Given the description of an element on the screen output the (x, y) to click on. 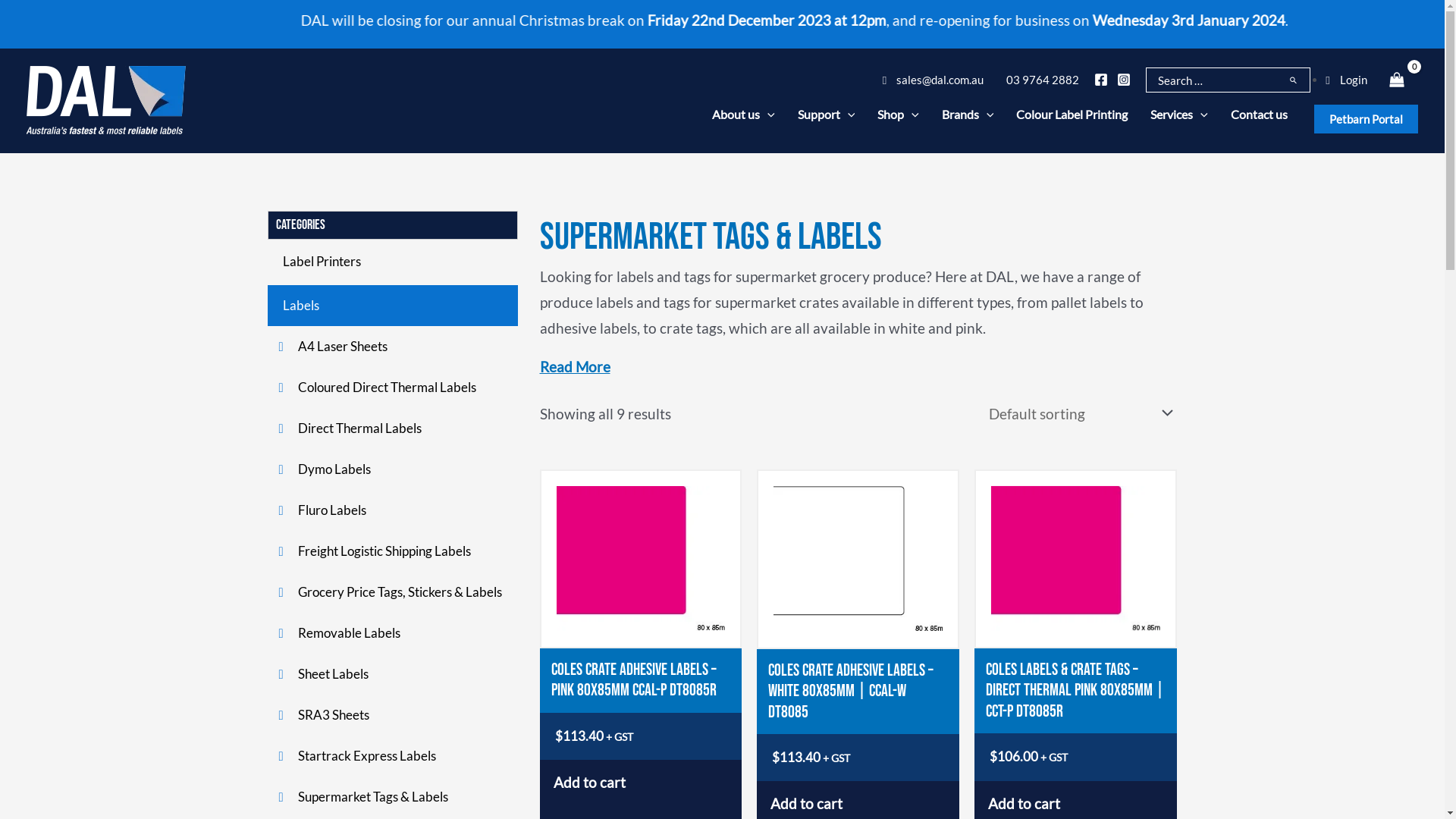
Label Printers Element type: text (391, 261)
Search Element type: text (1297, 79)
Add to cart Element type: text (640, 782)
Support Element type: text (826, 114)
Read More Element type: text (574, 366)
Removable Labels Element type: text (391, 632)
03 9764 2882 Element type: text (1038, 79)
Startrack Express Labels Element type: text (391, 755)
sales@dal.com.au Element type: text (932, 79)
Dymo Labels Element type: text (391, 468)
Freight Logistic Shipping Labels Element type: text (391, 550)
Fluro Labels Element type: text (391, 509)
Contact us Element type: text (1259, 114)
Services Element type: text (1179, 114)
Login Element type: text (1345, 79)
Sheet Labels Element type: text (391, 673)
Shop Element type: text (898, 114)
Direct Thermal Labels Element type: text (391, 427)
Coloured Direct Thermal Labels Element type: text (391, 387)
Labels Element type: text (391, 305)
About us Element type: text (743, 114)
SRA3 Sheets Element type: text (391, 714)
Supermarket Tags & Labels Element type: text (391, 796)
Brands Element type: text (967, 114)
Colour Label Printing Element type: text (1071, 114)
Petbarn Portal Element type: text (1366, 118)
Grocery Price Tags, Stickers & Labels Element type: text (391, 591)
A4 Laser Sheets Element type: text (391, 346)
